Given the description of an element on the screen output the (x, y) to click on. 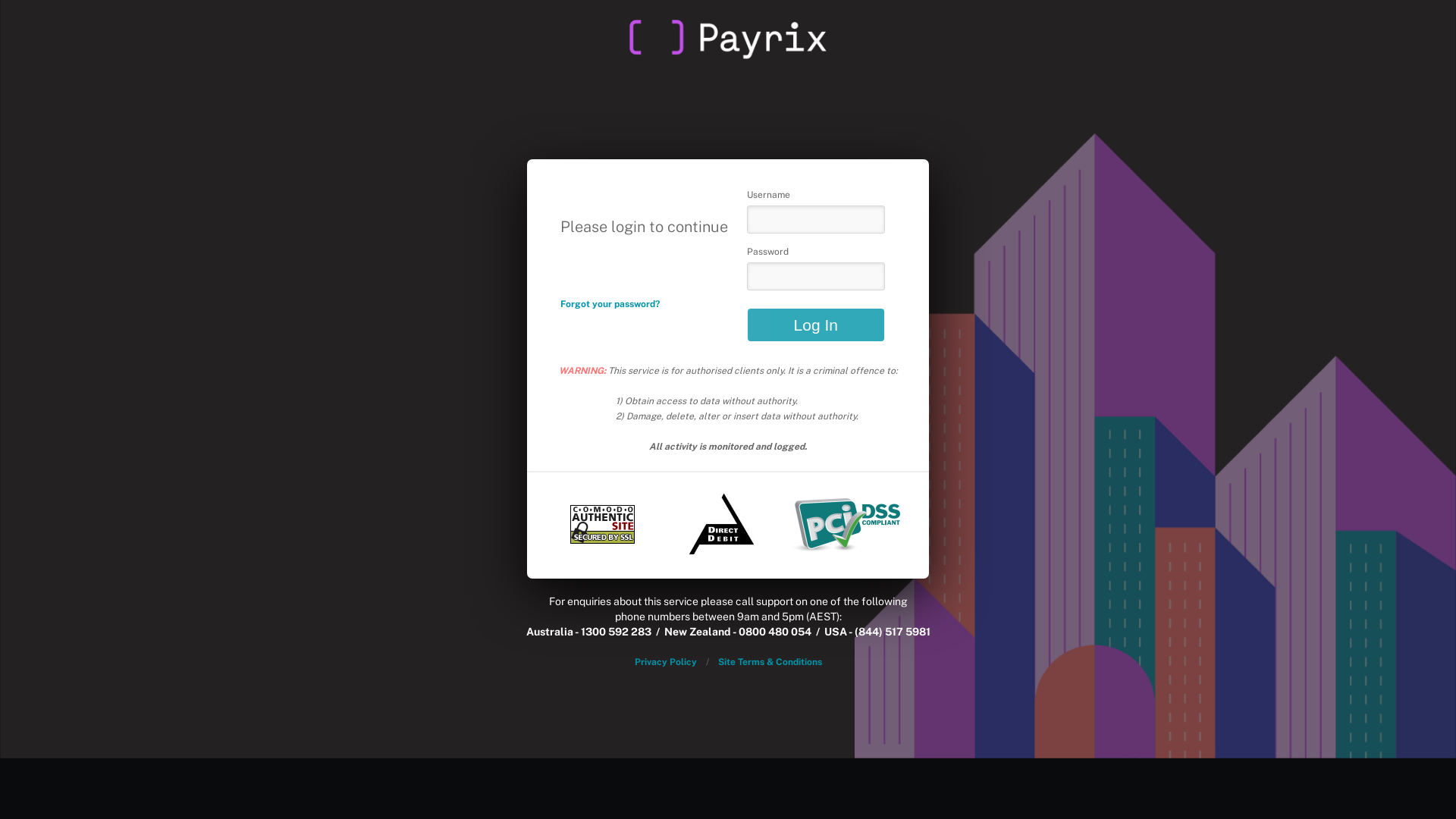
Log In Element type: text (815, 324)
Forgot your password? Element type: text (608, 303)
Privacy Policy Element type: text (664, 661)
Site Terms & Conditions Element type: text (769, 661)
